Given the description of an element on the screen output the (x, y) to click on. 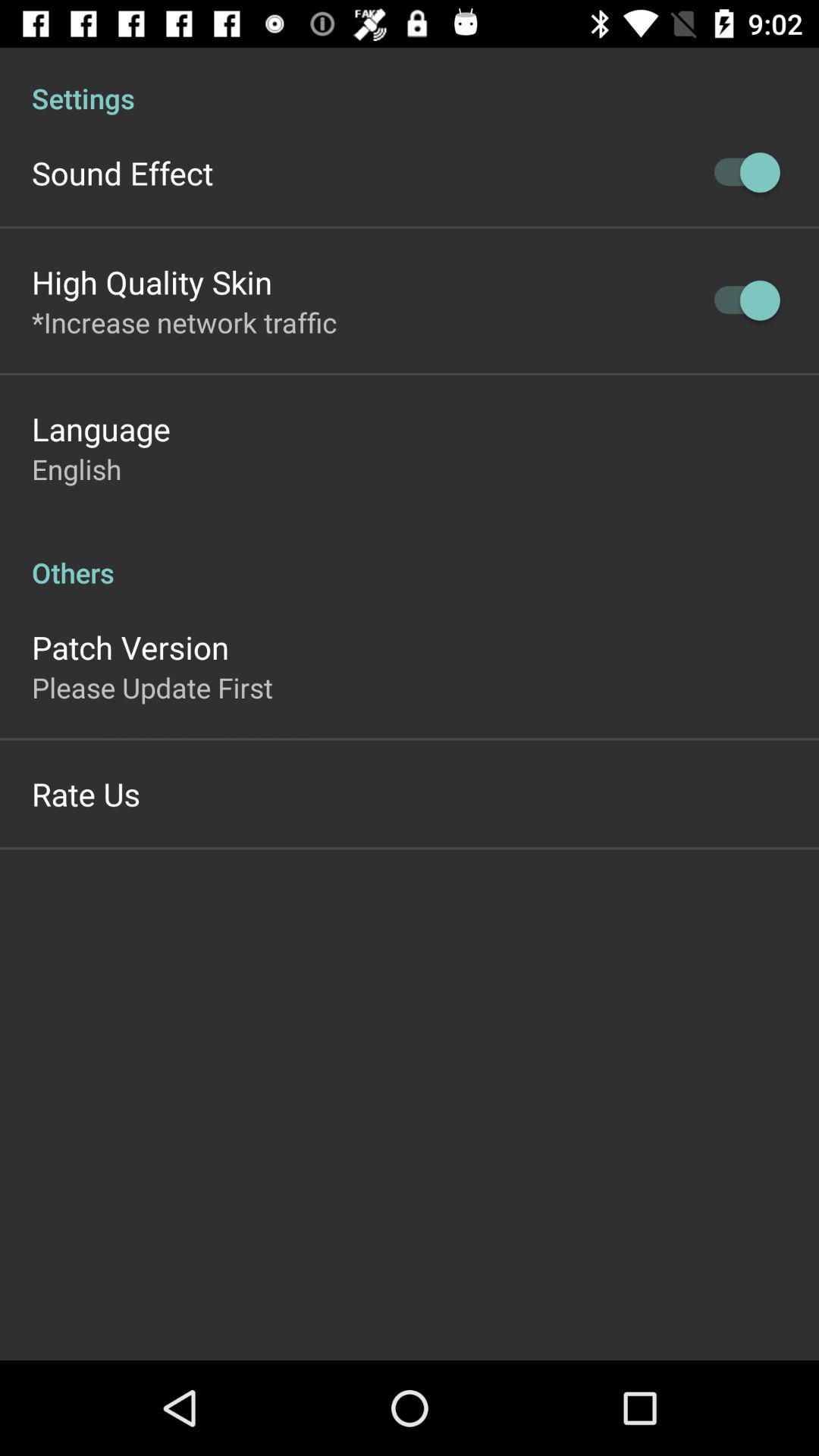
click the item below please update first item (85, 793)
